Given the description of an element on the screen output the (x, y) to click on. 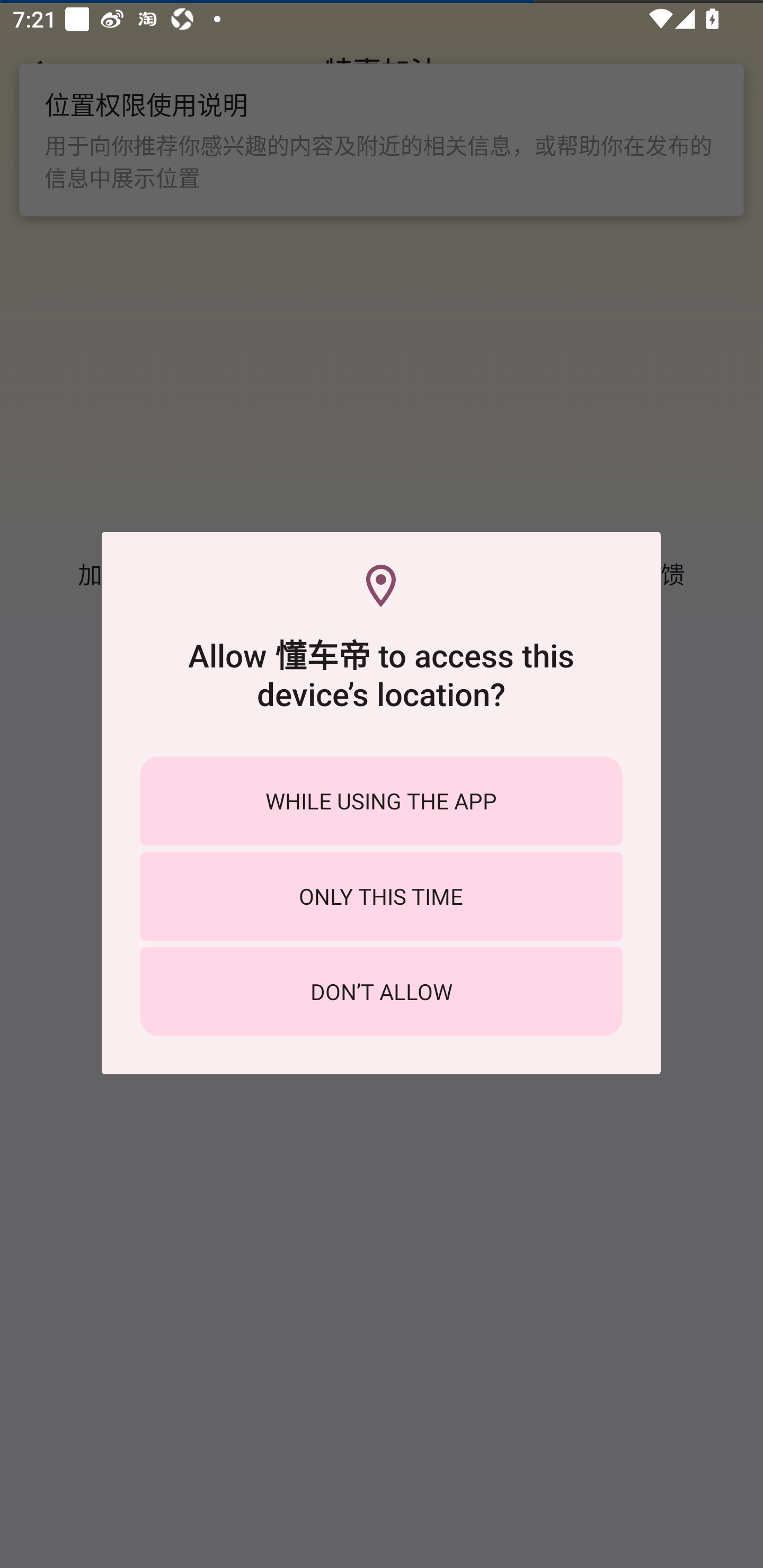
WHILE USING THE APP (380, 800)
ONLY THIS TIME (380, 895)
DON’T ALLOW (380, 991)
